Given the description of an element on the screen output the (x, y) to click on. 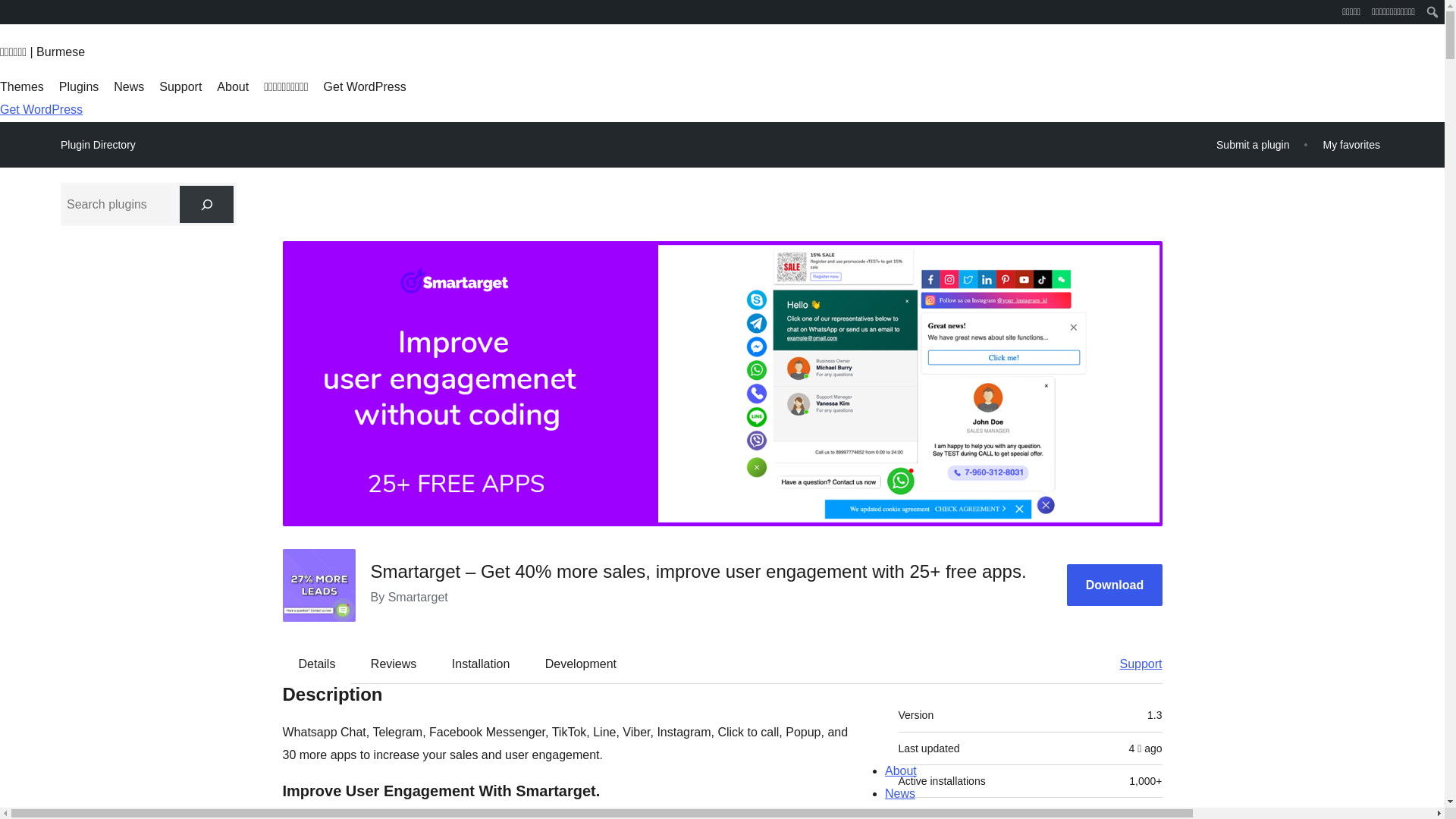
Get WordPress (41, 109)
Themes (21, 87)
Download (1114, 585)
News (128, 87)
Details (316, 664)
Submit a plugin (1253, 144)
Development (580, 664)
About (232, 87)
Support (1132, 664)
WordPress.org (10, 16)
